Given the description of an element on the screen output the (x, y) to click on. 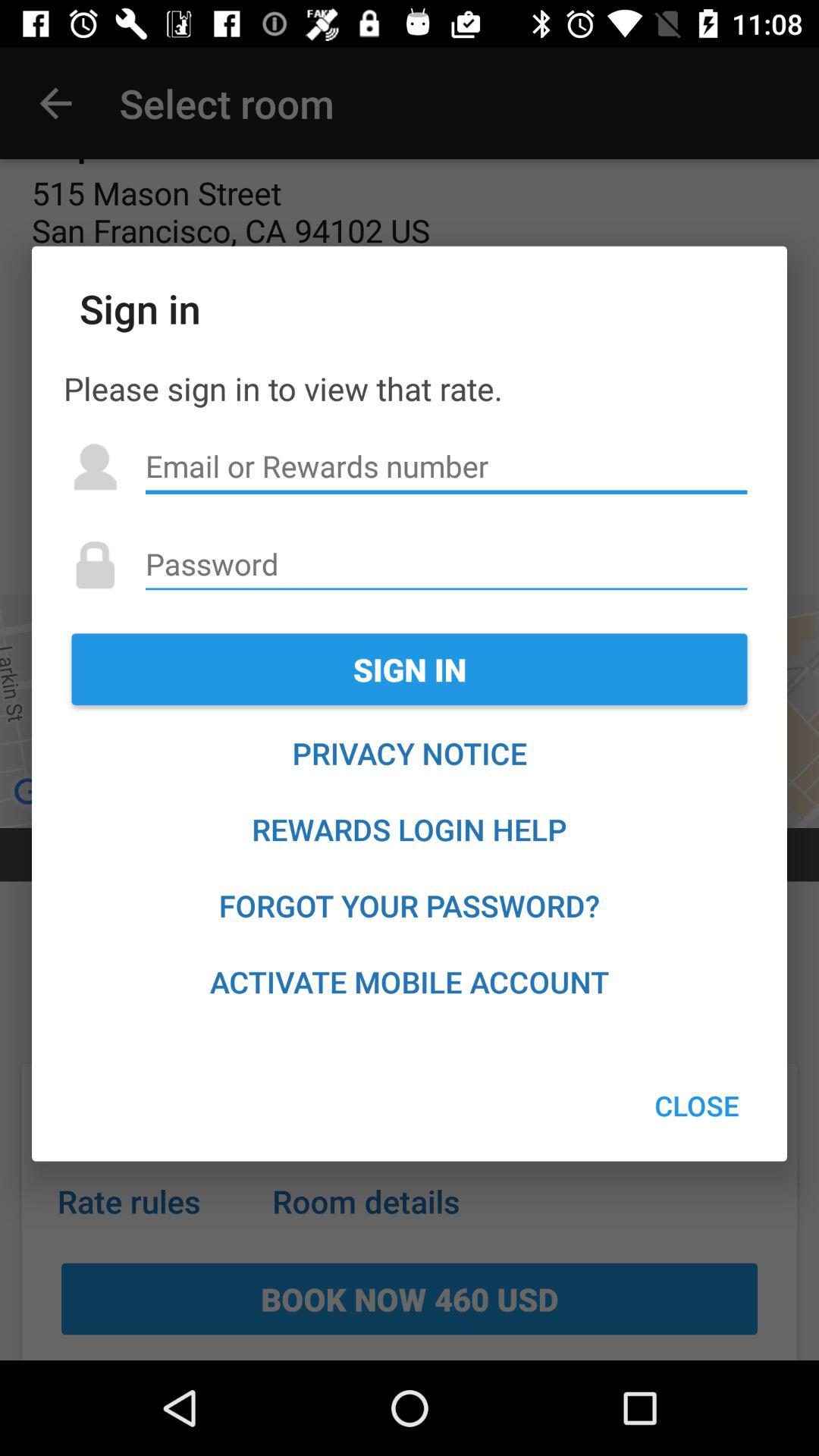
tap the item above the activate mobile account (409, 905)
